Given the description of an element on the screen output the (x, y) to click on. 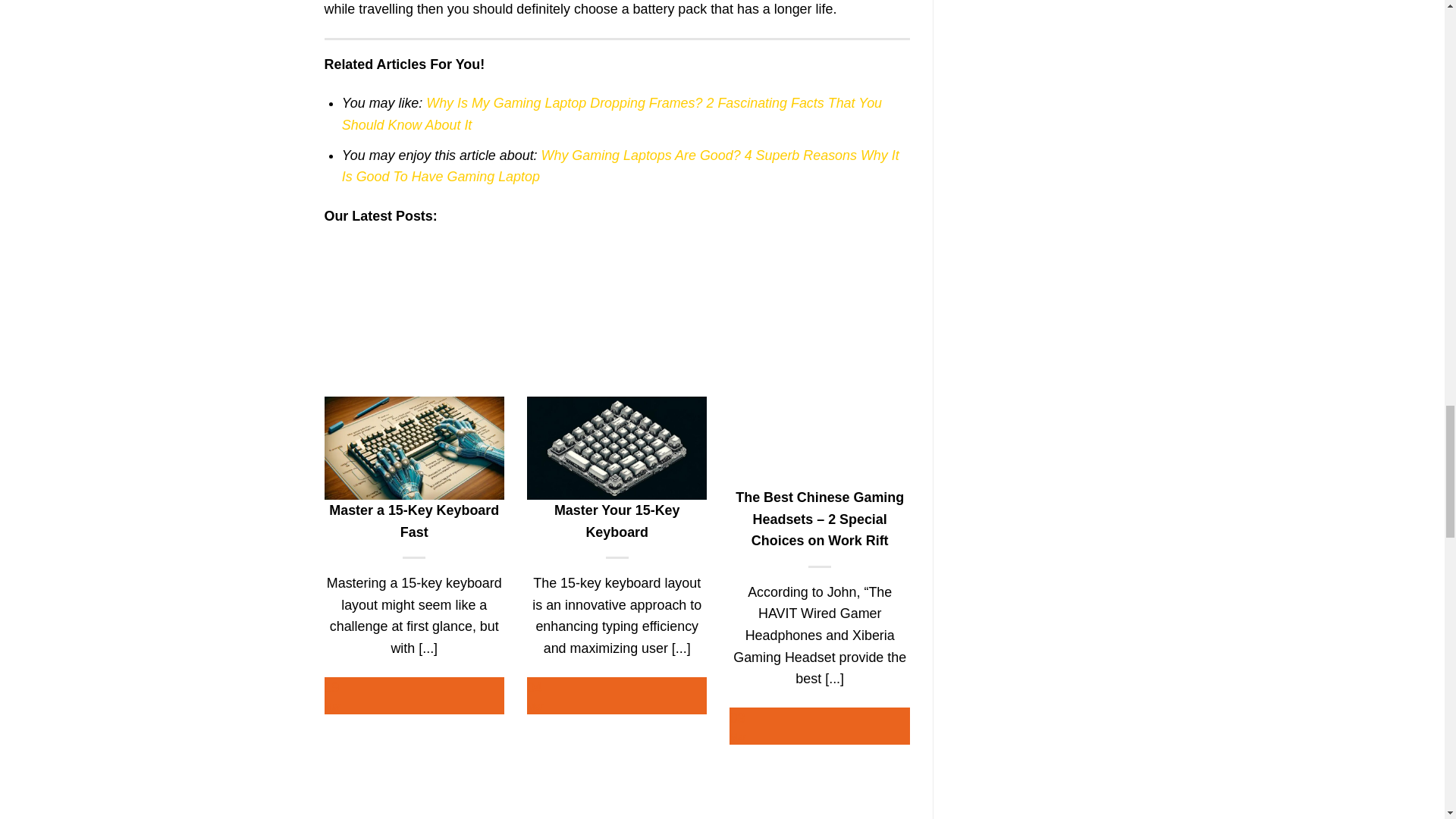
Master your 15-key keyboard 4 (616, 447)
Master a 15-key keyboard fast 1 (413, 447)
